Given the description of an element on the screen output the (x, y) to click on. 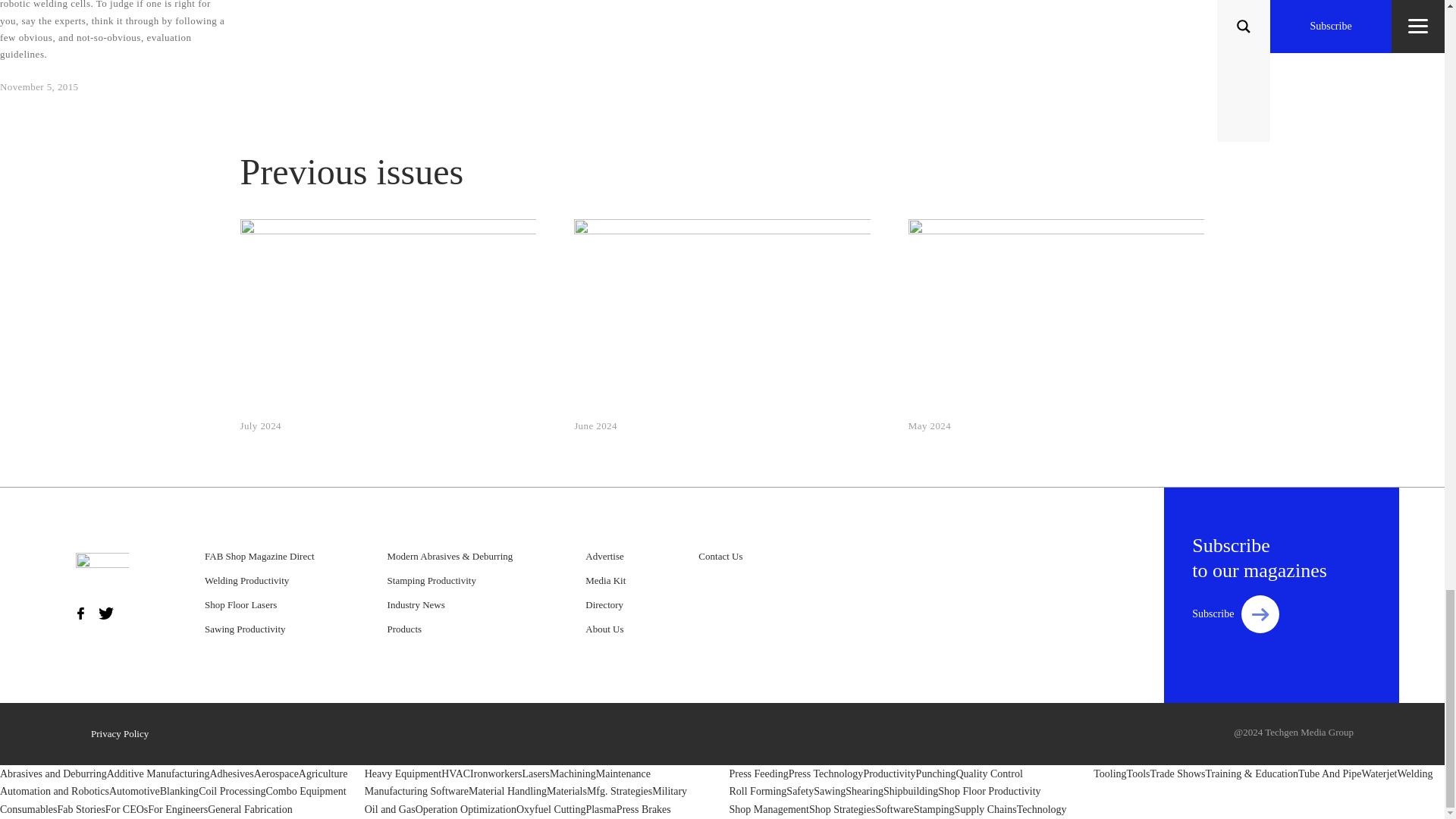
Previous issues (722, 171)
Back to the homepage (102, 574)
June 2024 (595, 425)
July 2024 (260, 425)
